Given the description of an element on the screen output the (x, y) to click on. 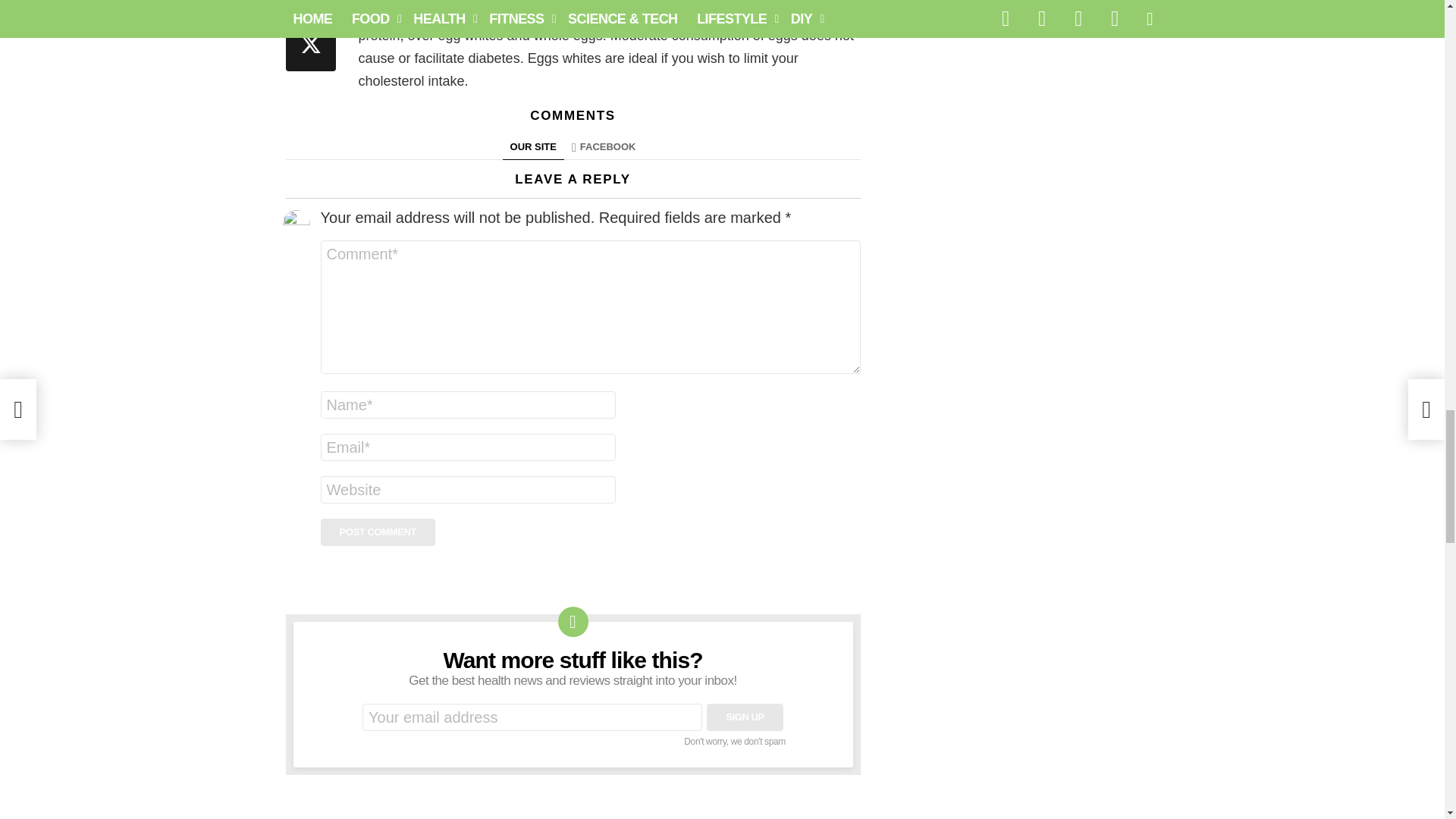
Sign up (744, 717)
Post Comment (377, 532)
